Given the description of an element on the screen output the (x, y) to click on. 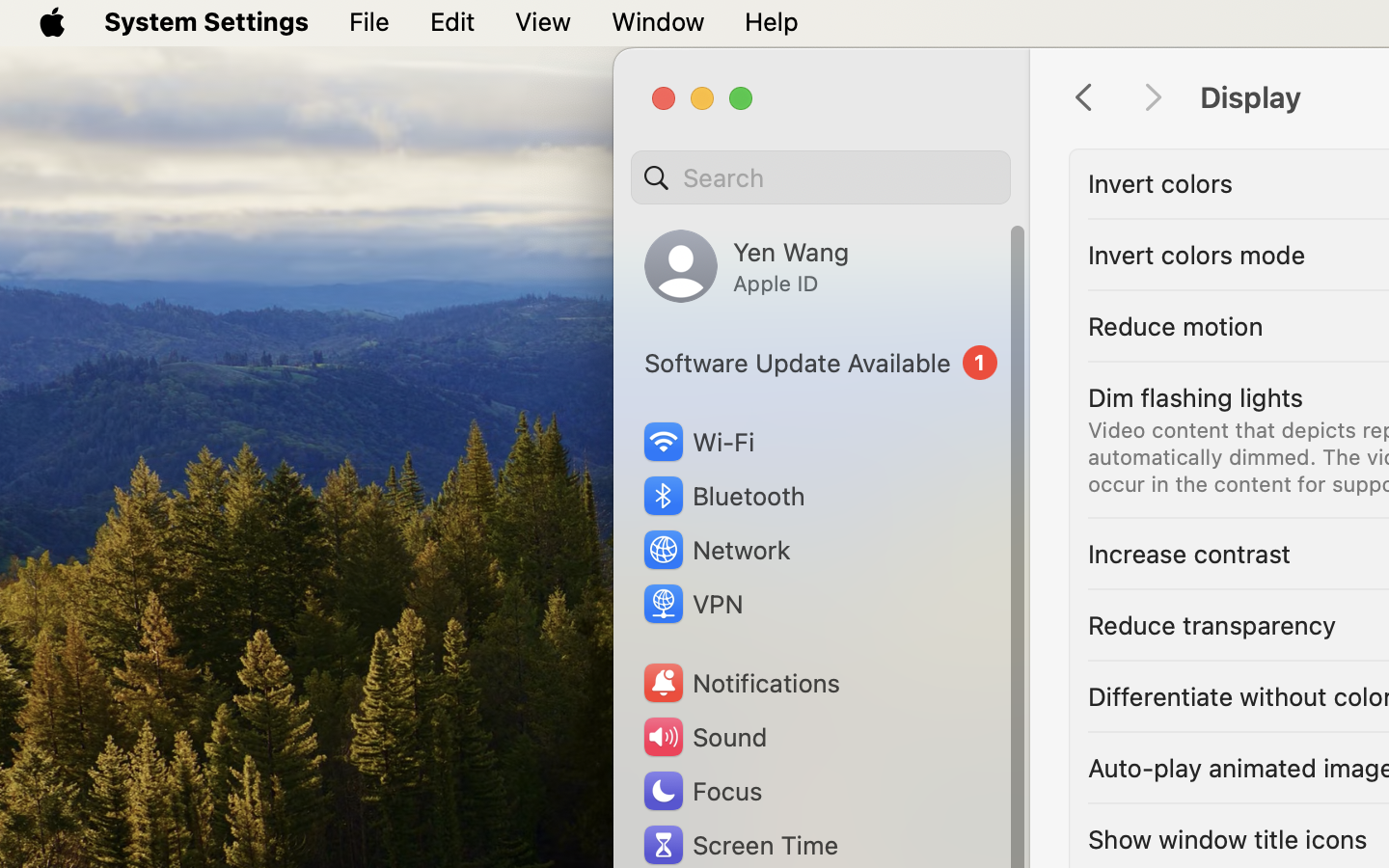
Yen Wang, Apple ID Element type: AXStaticText (746, 265)
Screen Time Element type: AXStaticText (739, 844)
Invert colors mode Element type: AXStaticText (1197, 254)
Notifications Element type: AXStaticText (740, 682)
Wi‑Fi Element type: AXStaticText (697, 441)
